Given the description of an element on the screen output the (x, y) to click on. 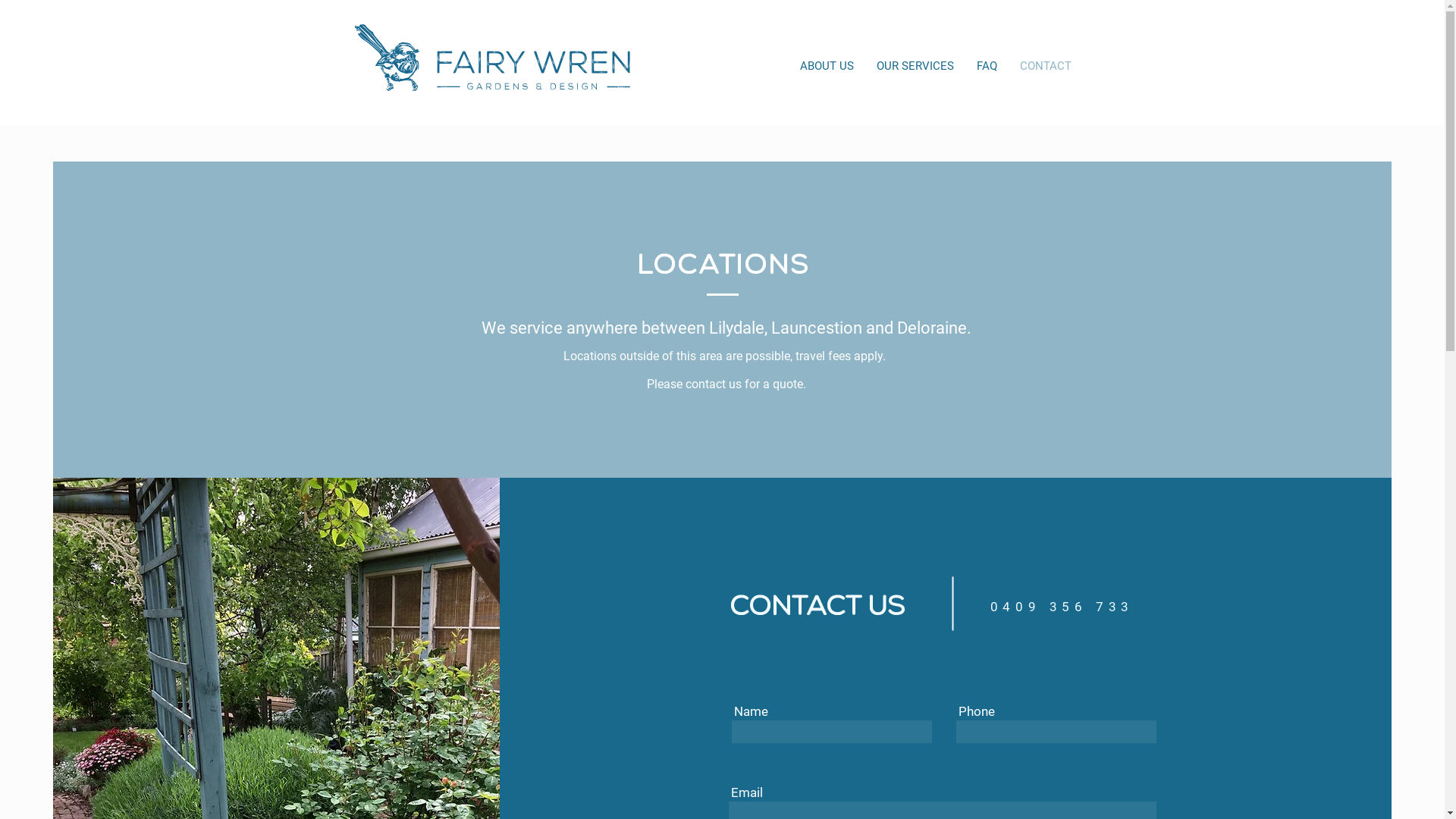
CONTACT Element type: text (1045, 66)
ABOUT US Element type: text (826, 66)
OUR SERVICES Element type: text (915, 66)
FAQ Element type: text (986, 66)
